Given the description of an element on the screen output the (x, y) to click on. 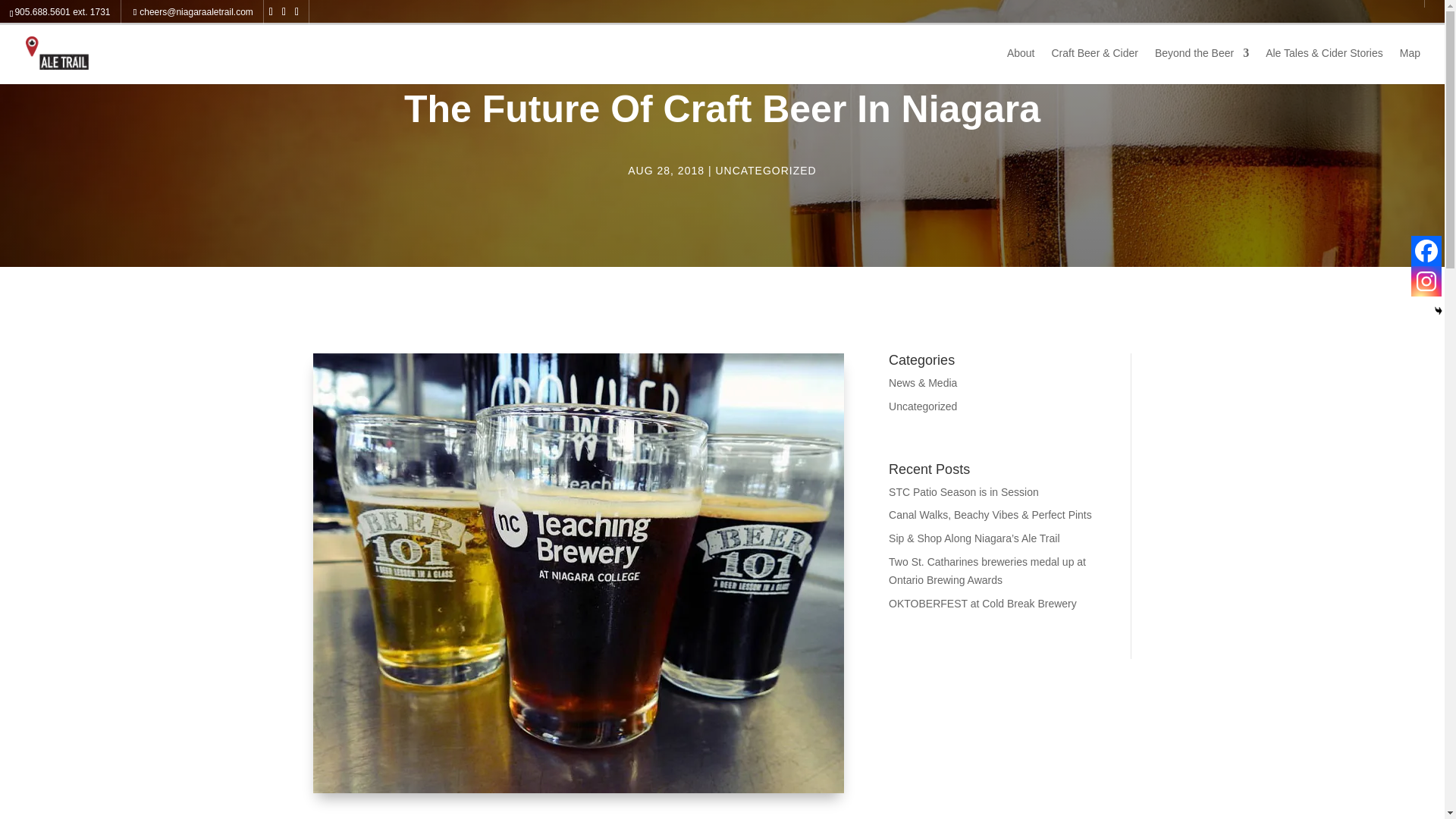
905.688.5601 ext. 1731 (62, 11)
Beyond the Beer (1201, 65)
UNCATEGORIZED (764, 170)
Facebook (1425, 250)
Instagram (1425, 281)
